Given the description of an element on the screen output the (x, y) to click on. 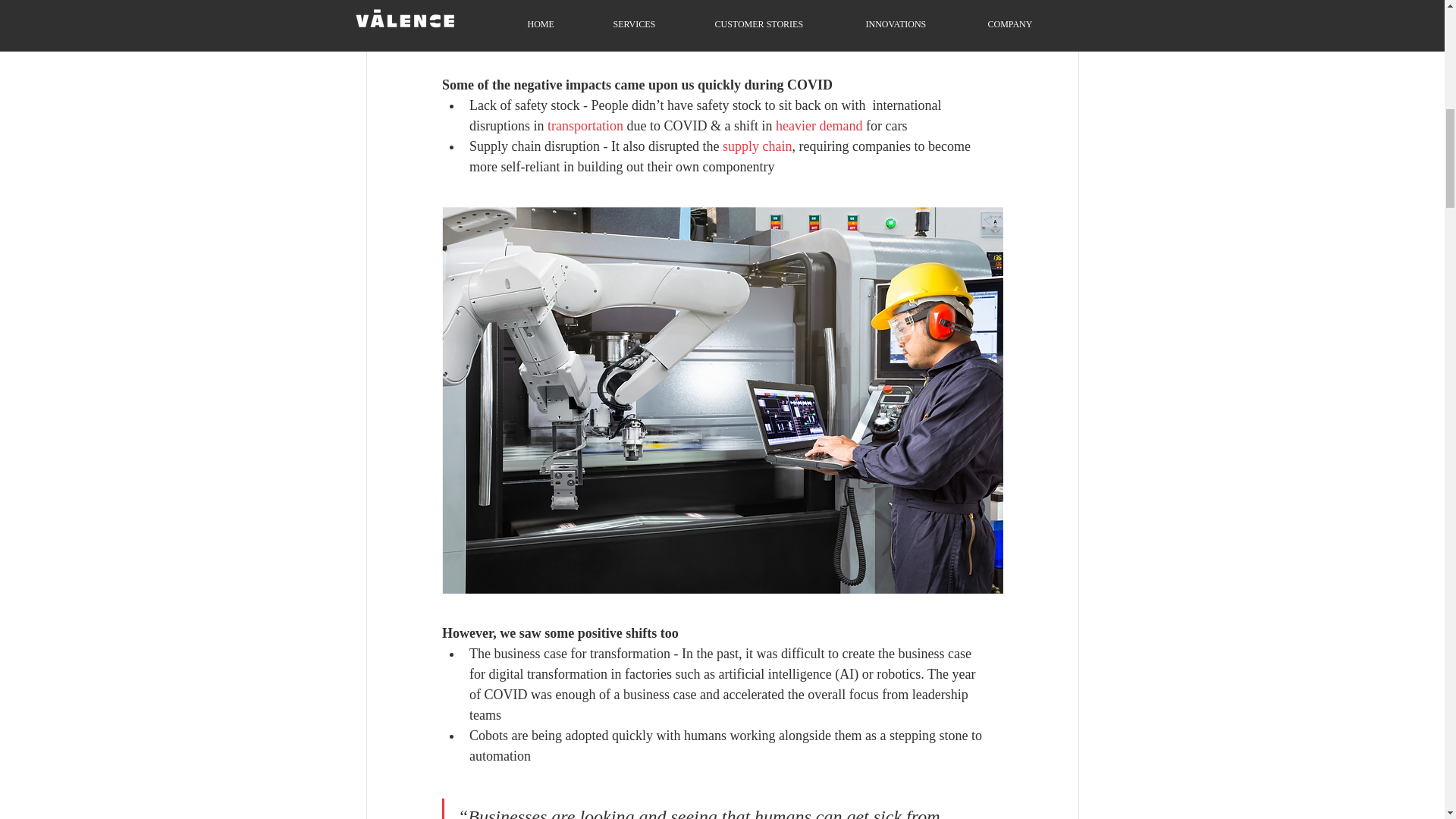
heavier demand (817, 125)
transportation (585, 125)
supply chain (757, 145)
